Given the description of an element on the screen output the (x, y) to click on. 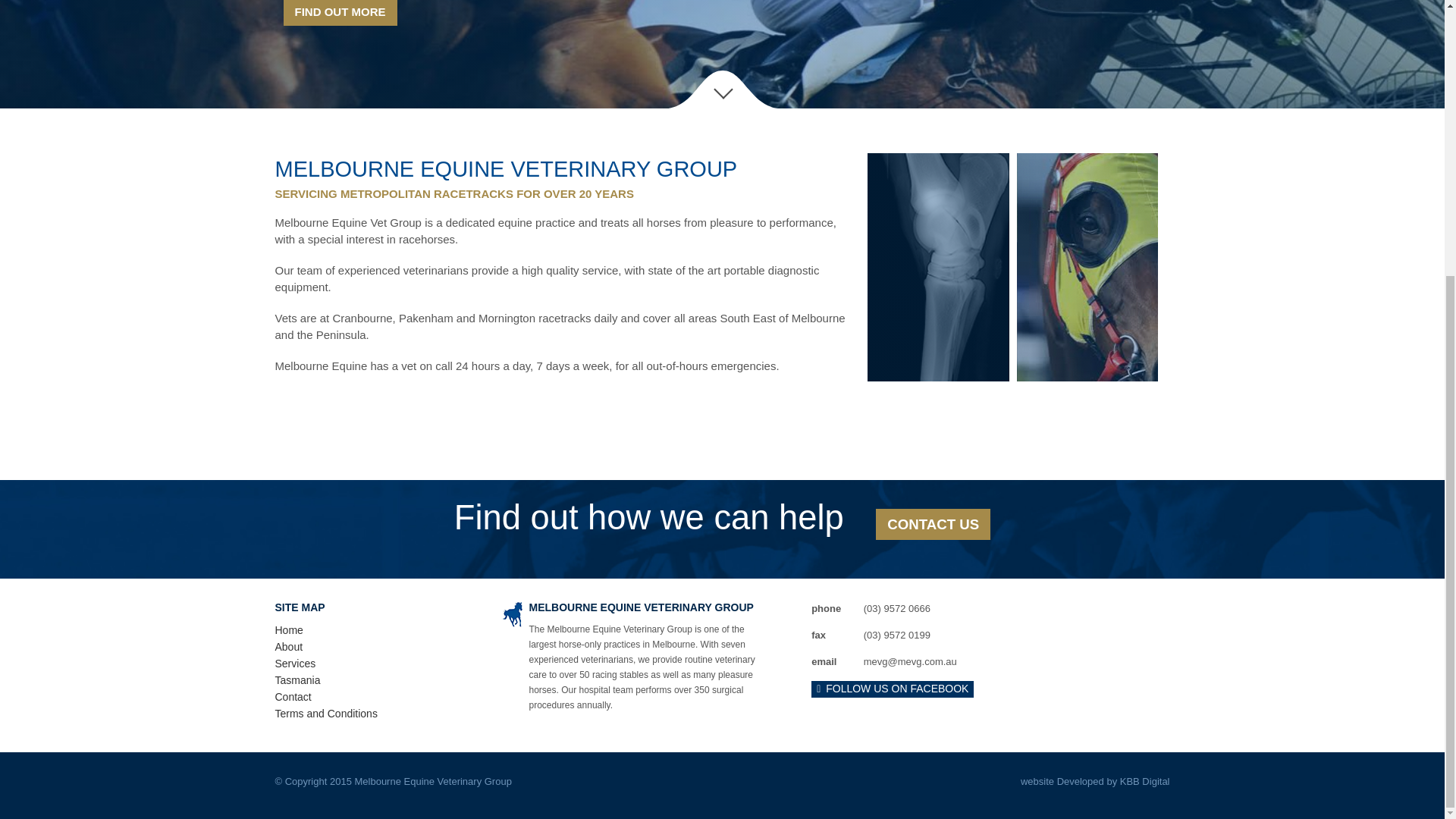
Home (288, 630)
KBB Digital (1144, 781)
Tasmania (297, 680)
Contact (293, 696)
Services (295, 663)
Terms and Conditions (326, 713)
CONTACT US (933, 523)
FOLLOW US ON FACEBOOK (892, 688)
About (288, 646)
FIND OUT MORE (340, 12)
